Given the description of an element on the screen output the (x, y) to click on. 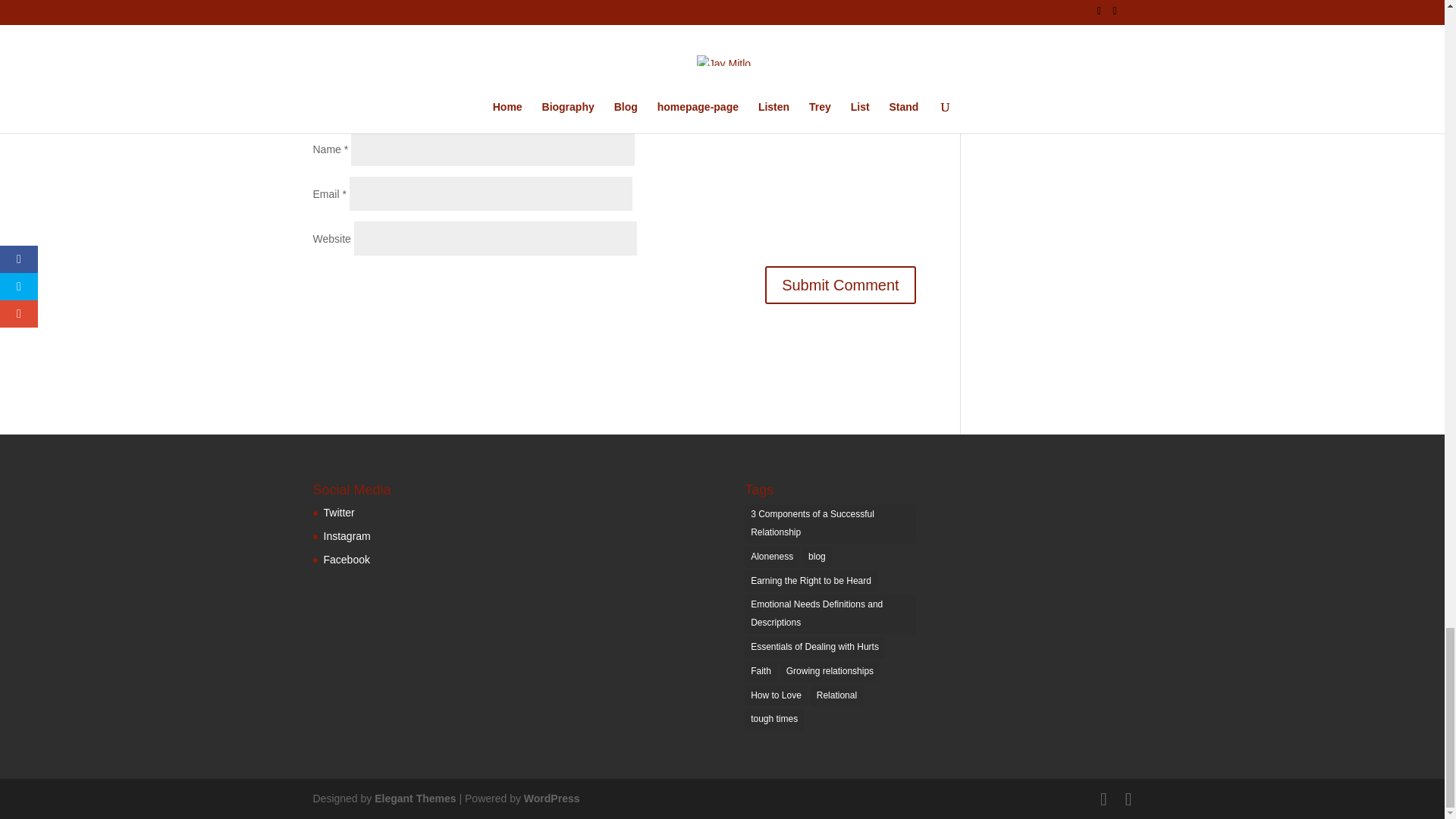
Submit Comment (840, 284)
Aloneness (771, 557)
3 Components of a Successful Relationship (829, 523)
Facebook (346, 559)
Faith (760, 671)
Essentials of Dealing with Hurts (814, 647)
Emotional Needs Definitions and Descriptions (829, 613)
Submit Comment (840, 284)
Instagram (346, 535)
Twitter (338, 512)
